Given the description of an element on the screen output the (x, y) to click on. 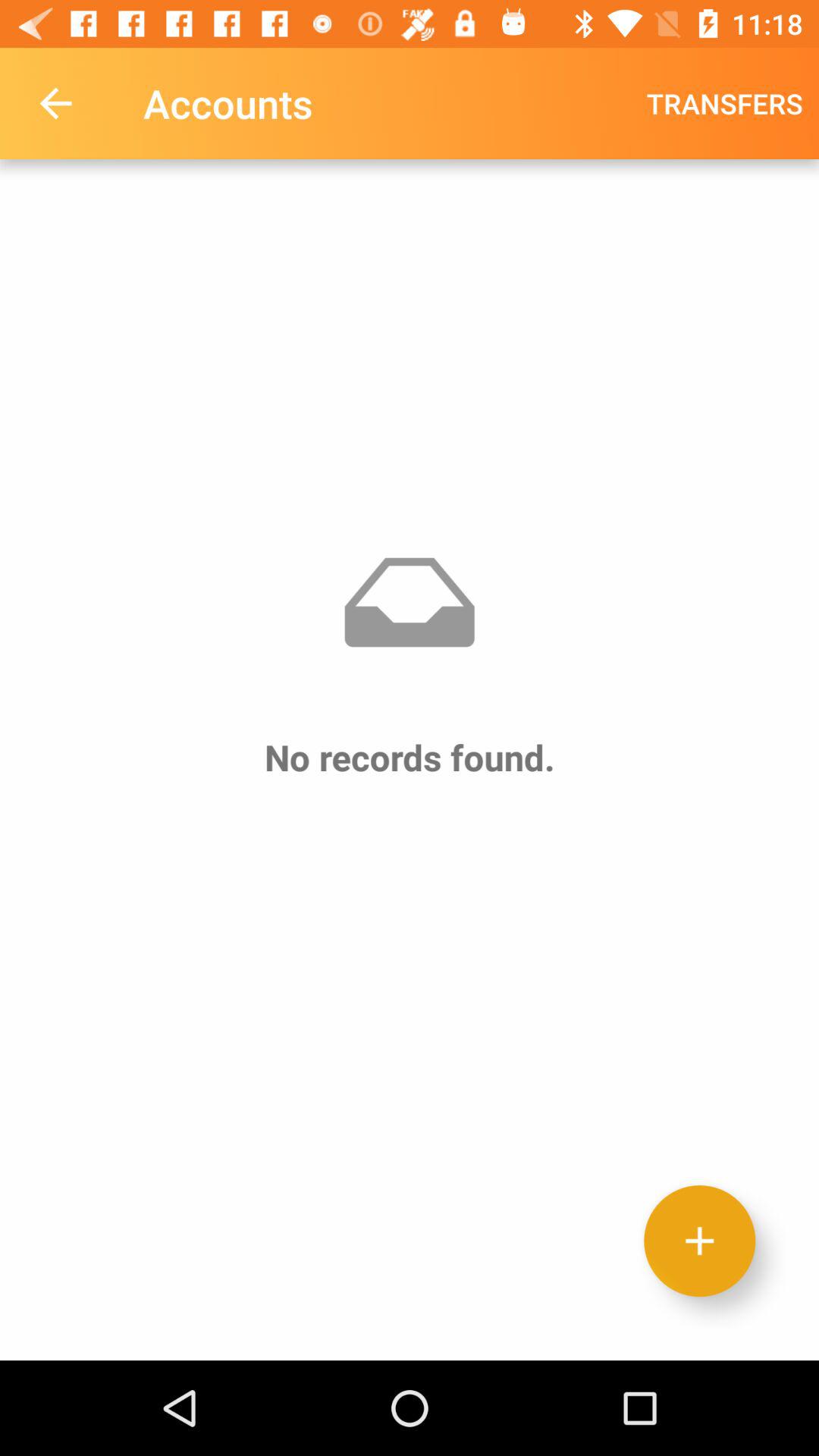
create new record (699, 1240)
